Given the description of an element on the screen output the (x, y) to click on. 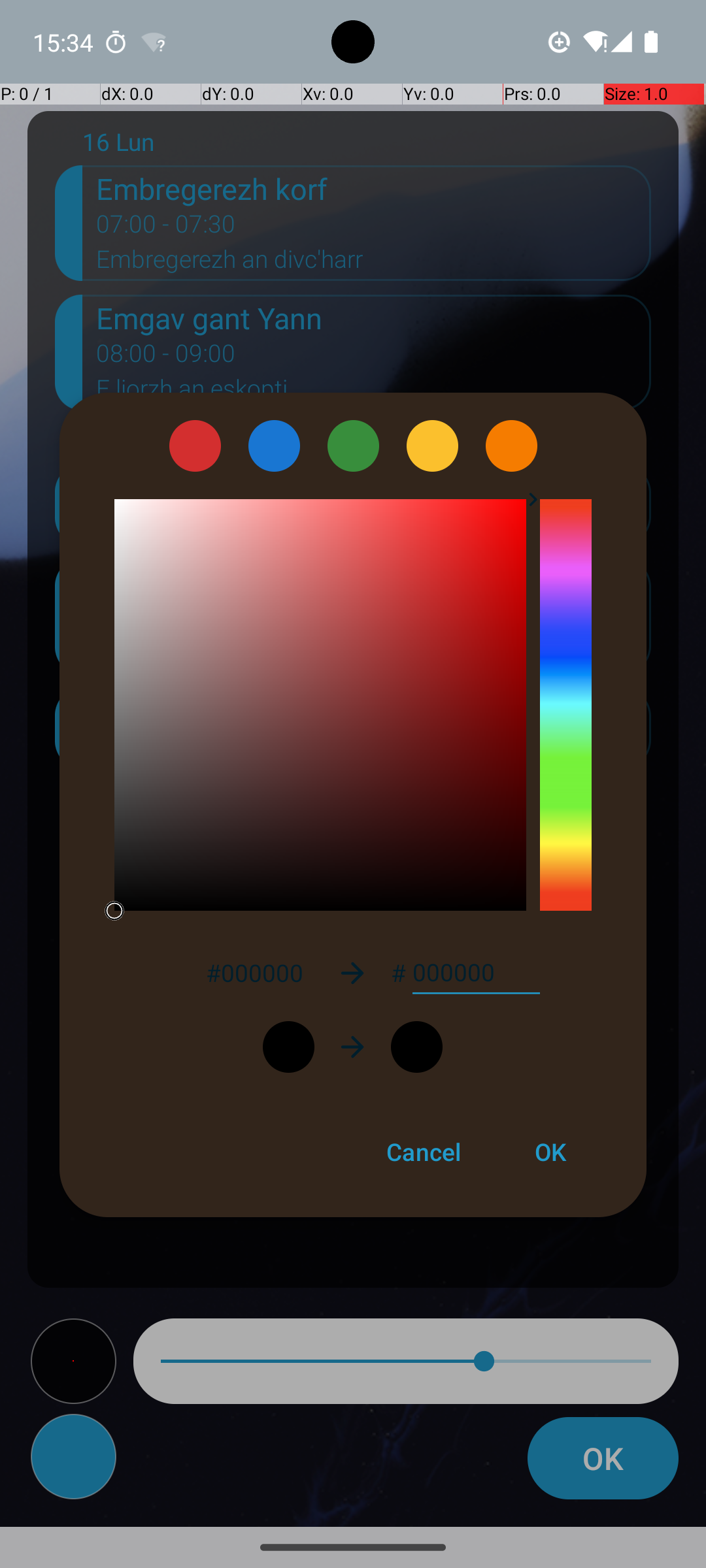
#000000 Element type: android.widget.TextView (254, 972)
000000 Element type: android.widget.EditText (475, 972)
